Given the description of an element on the screen output the (x, y) to click on. 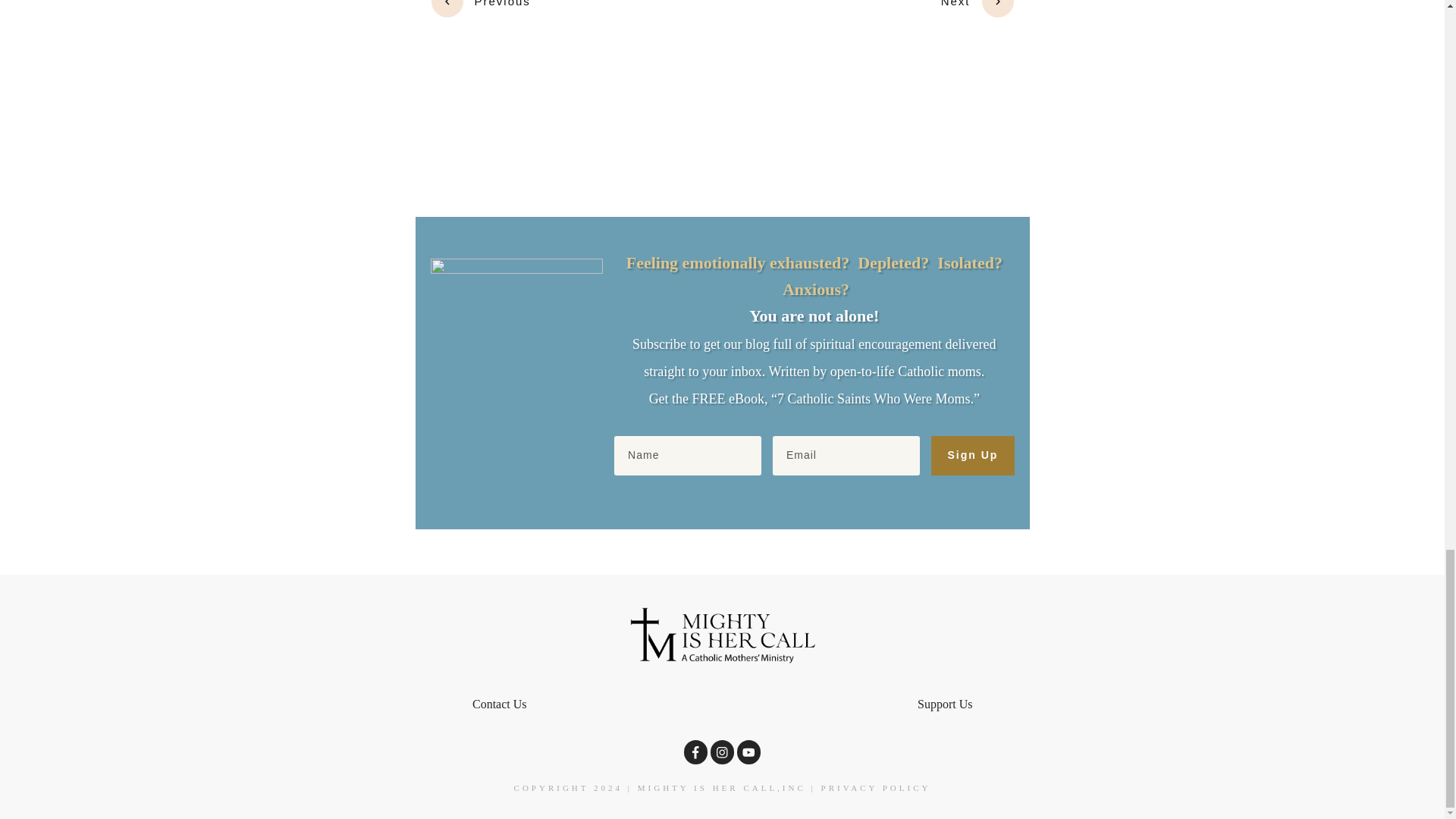
Previous (479, 8)
PRIVACY POLICY (876, 787)
Sign Up (972, 455)
Contact Us (499, 703)
Next (976, 8)
Support Us (944, 703)
